Given the description of an element on the screen output the (x, y) to click on. 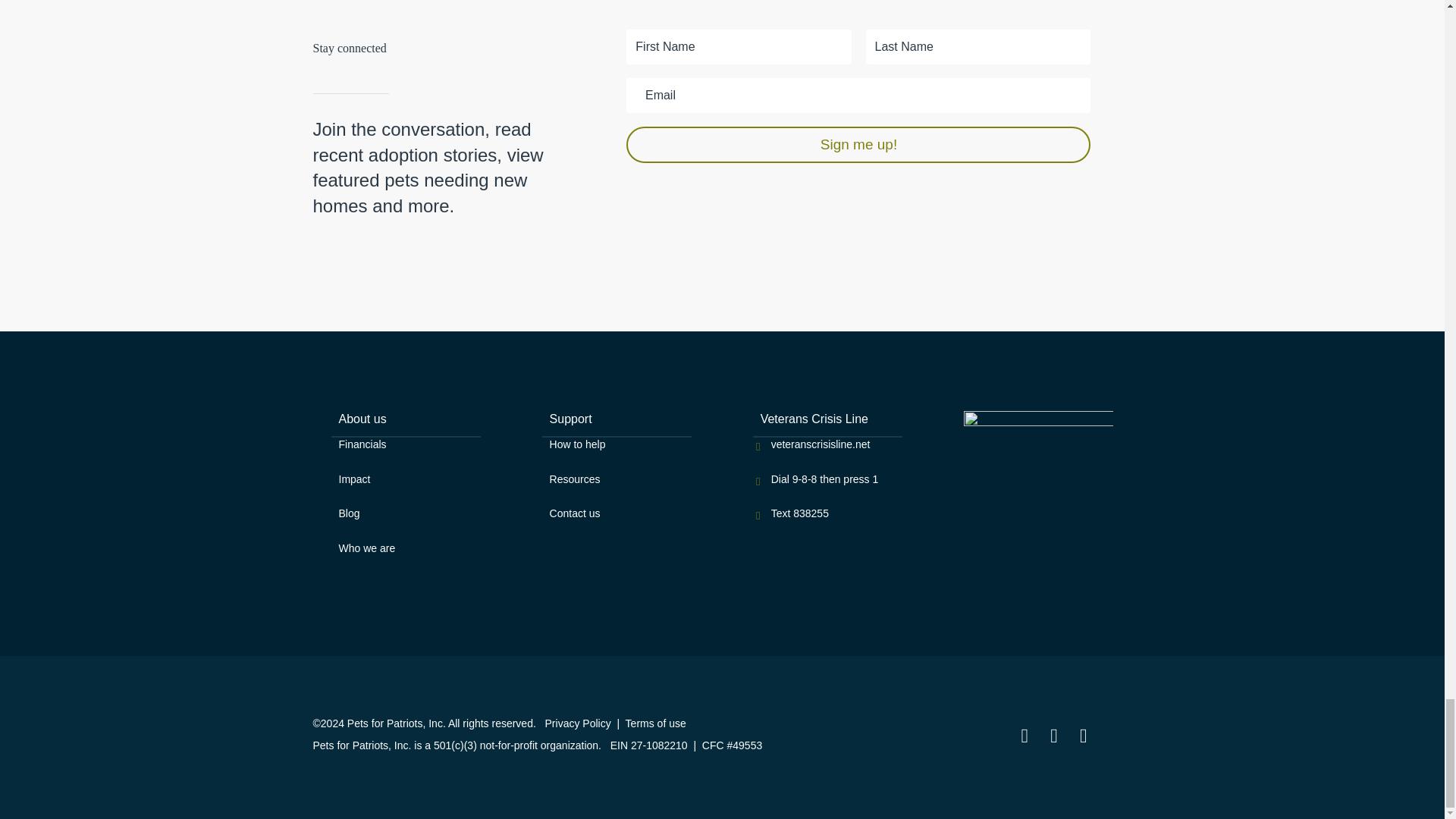
pets-for-patriots-logo-without-tag-white (1038, 436)
